Given the description of an element on the screen output the (x, y) to click on. 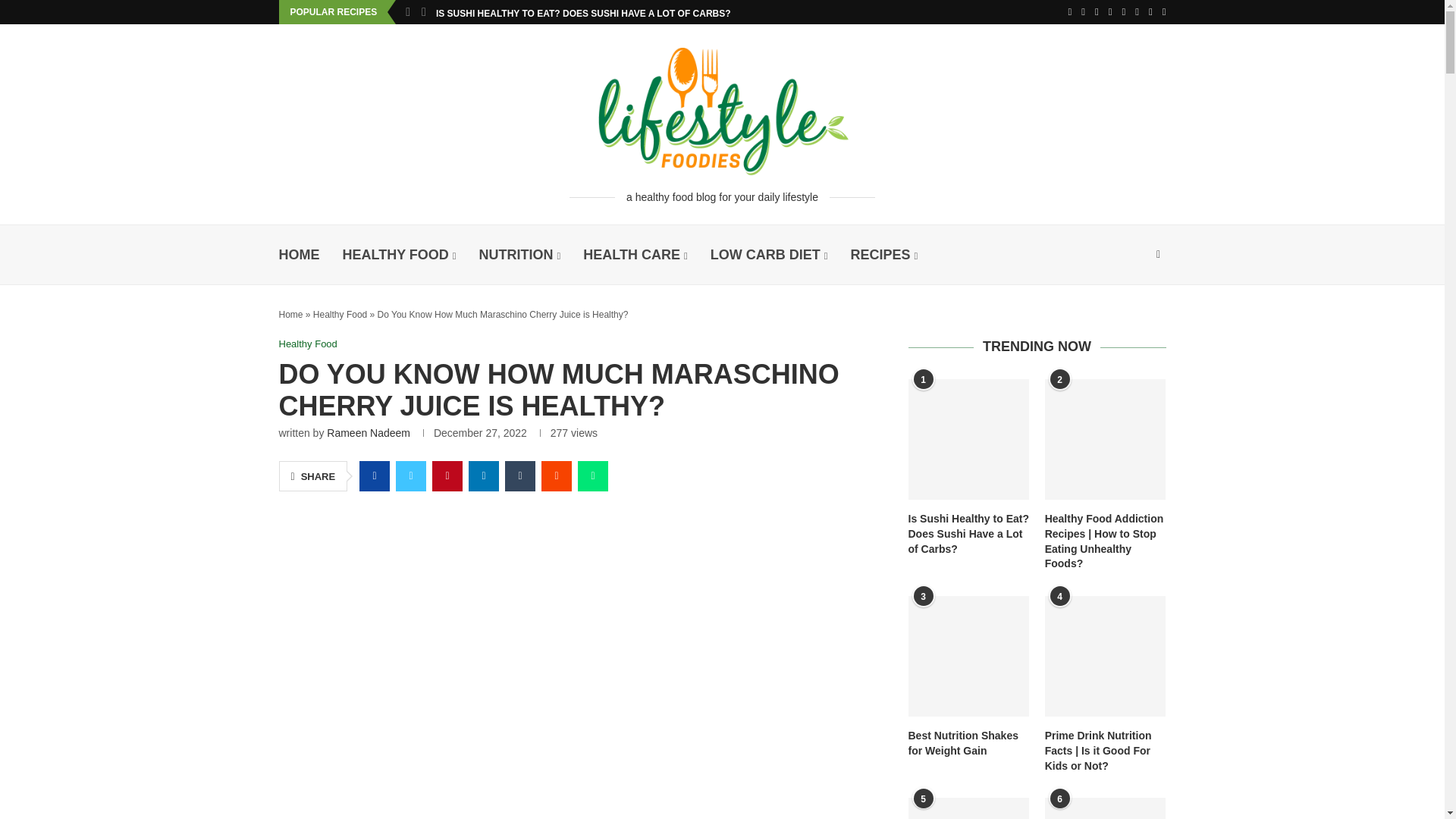
NUTRITION (519, 255)
IS SUSHI HEALTHY TO EAT? DOES SUSHI HAVE A LOT OF CARBS? (582, 13)
HEALTHY FOOD (399, 255)
